Given the description of an element on the screen output the (x, y) to click on. 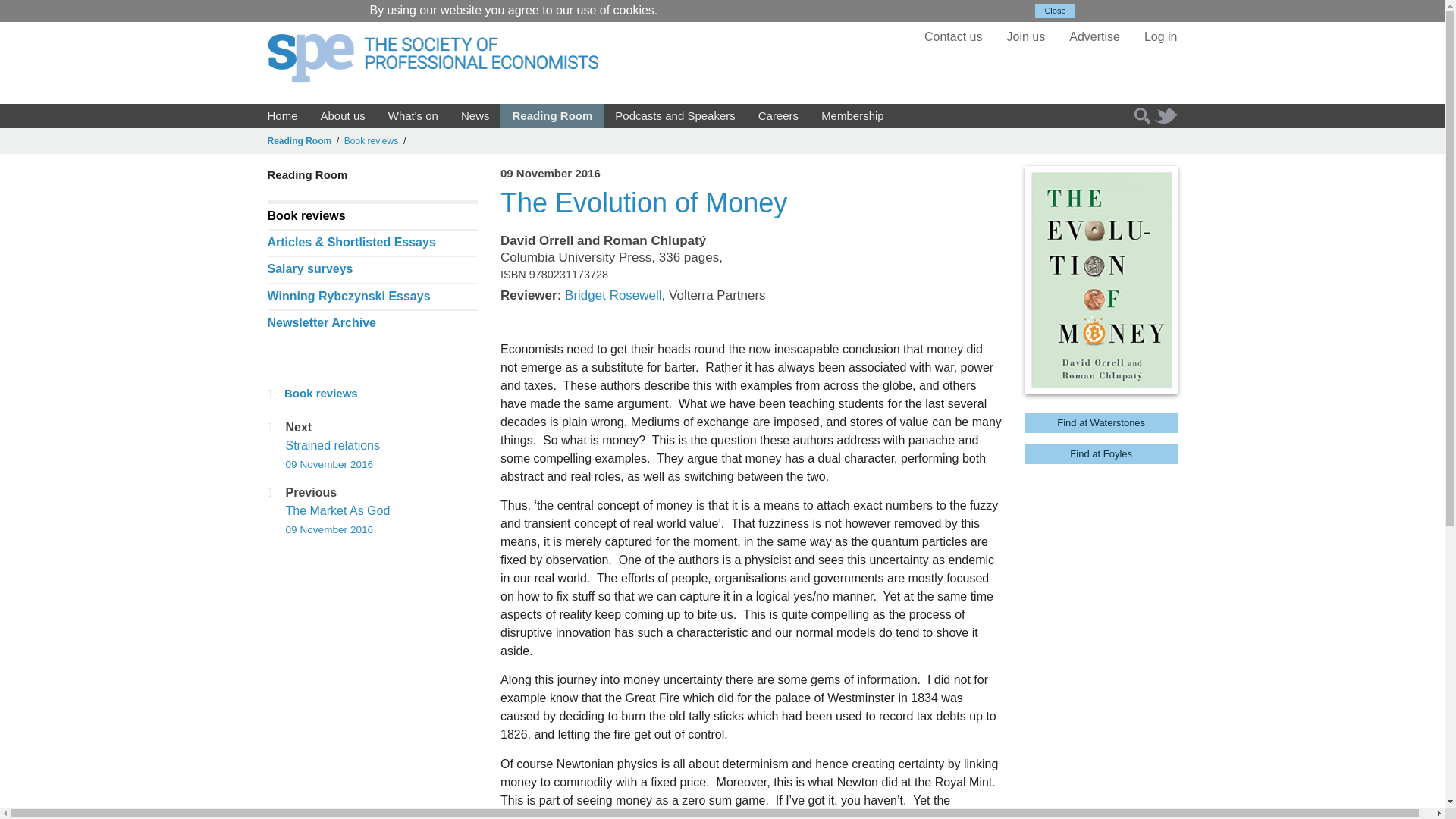
Log in (1160, 36)
SPE on Twitter (1163, 115)
Careers (777, 115)
Close (1054, 11)
Reading Room (552, 115)
Podcasts and Speakers (674, 115)
Join us (1026, 36)
About us (342, 115)
News (474, 115)
Advertise (1093, 36)
Contact us (952, 36)
What's on (413, 115)
Home (282, 115)
